Given the description of an element on the screen output the (x, y) to click on. 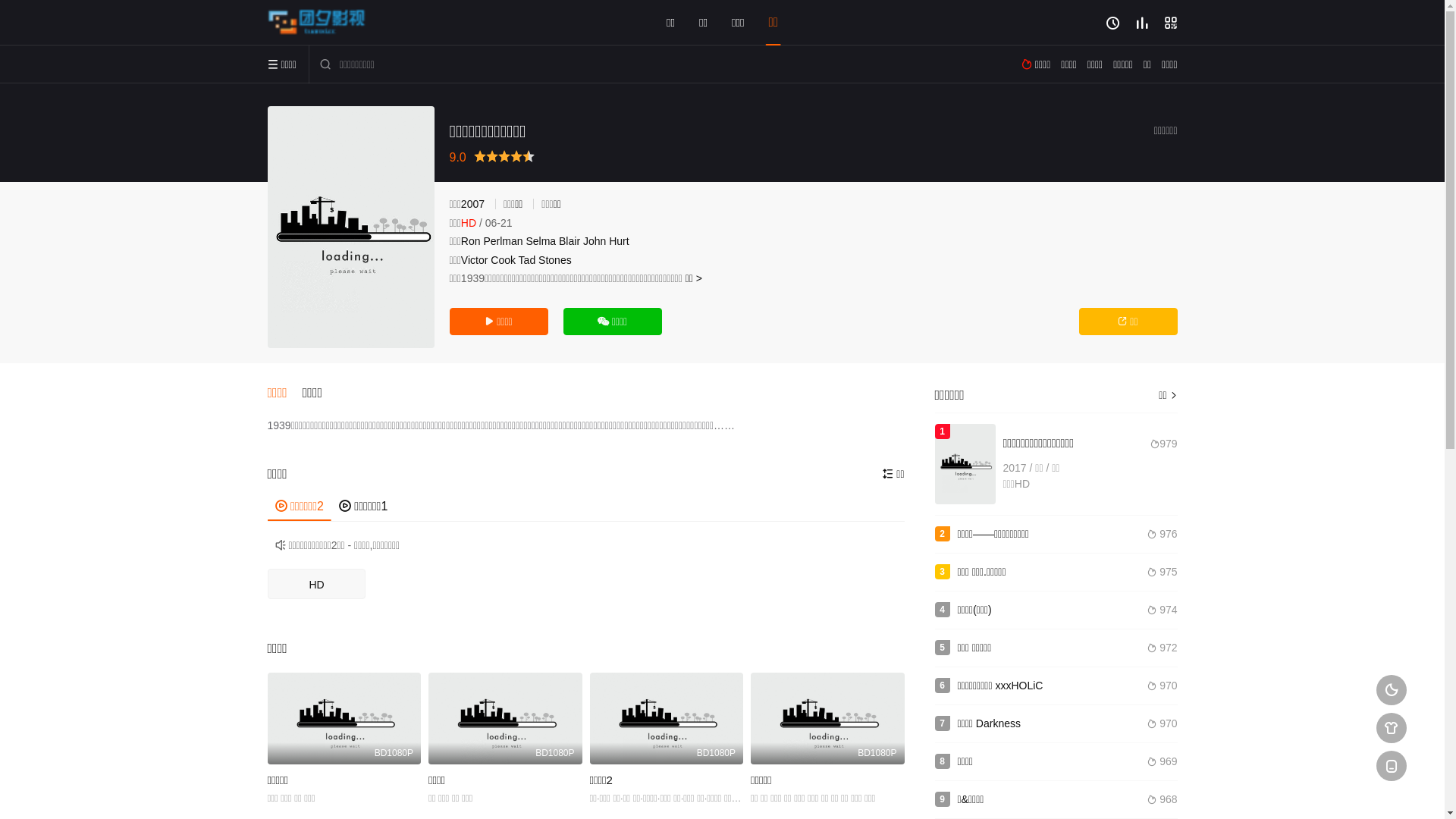
Blair Element type: text (569, 241)
Tad Element type: text (527, 260)
Stones Element type: text (554, 260)
Victor Element type: text (474, 260)
Perlman Element type: text (502, 241)
HD Element type: text (315, 583)
Selma Element type: text (540, 241)
BD1080P Element type: text (343, 718)
Hurt Element type: text (618, 241)
Cook Element type: text (502, 260)
John Element type: text (594, 241)
BD1080P Element type: text (827, 718)
BD1080P Element type: text (666, 718)
BD1080P Element type: text (505, 718)
2007 Element type: text (472, 203)
Ron Element type: text (470, 241)
